Given the description of an element on the screen output the (x, y) to click on. 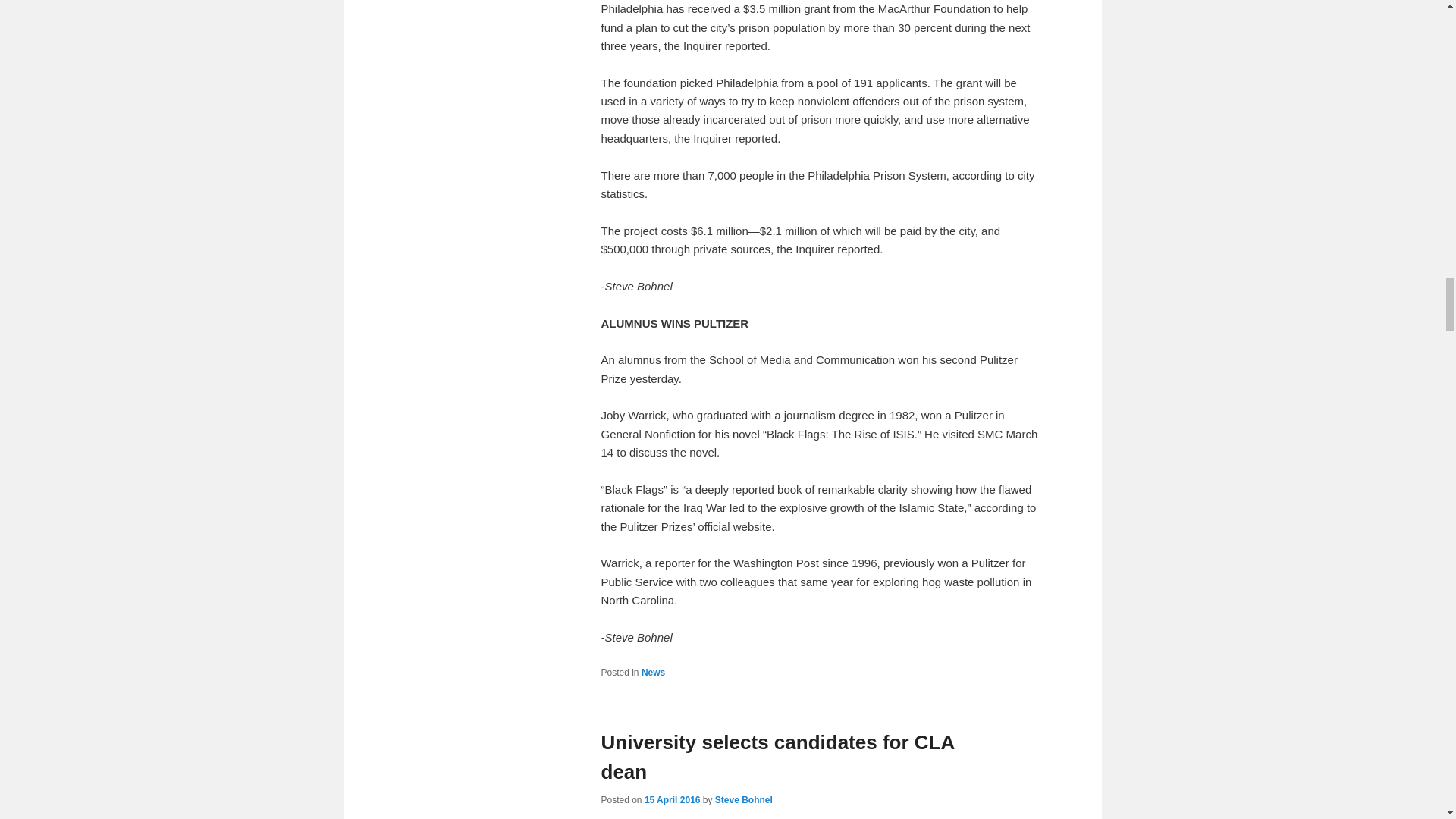
17:29 (672, 799)
View all posts by Steve Bohnel (743, 799)
Steve Bohnel (743, 799)
News (653, 672)
15 April 2016 (672, 799)
University selects candidates for CLA dean (776, 756)
